Given the description of an element on the screen output the (x, y) to click on. 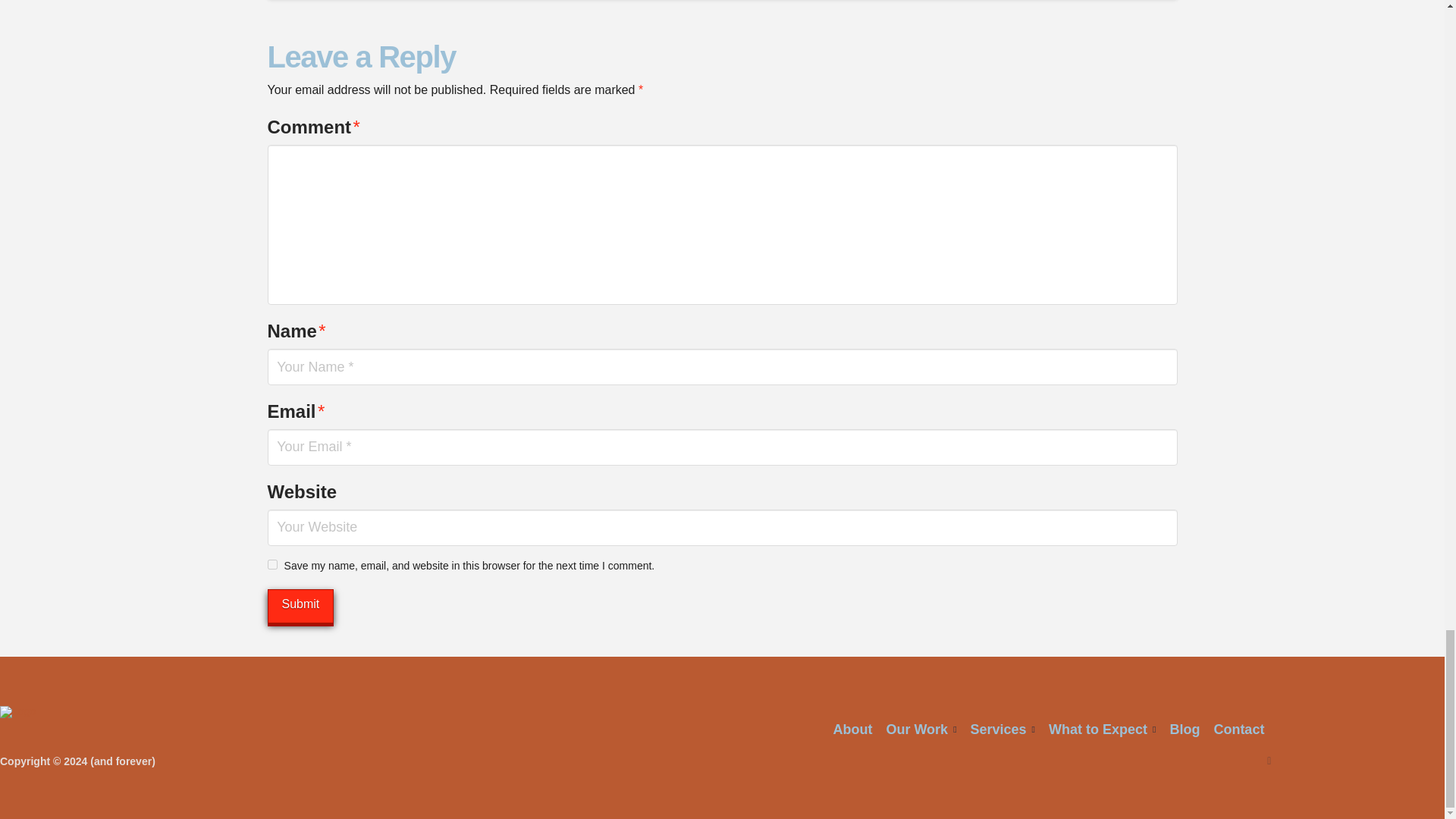
Submit (299, 605)
Our Work (920, 729)
Submit (299, 605)
yes (271, 564)
About (852, 729)
